Given the description of an element on the screen output the (x, y) to click on. 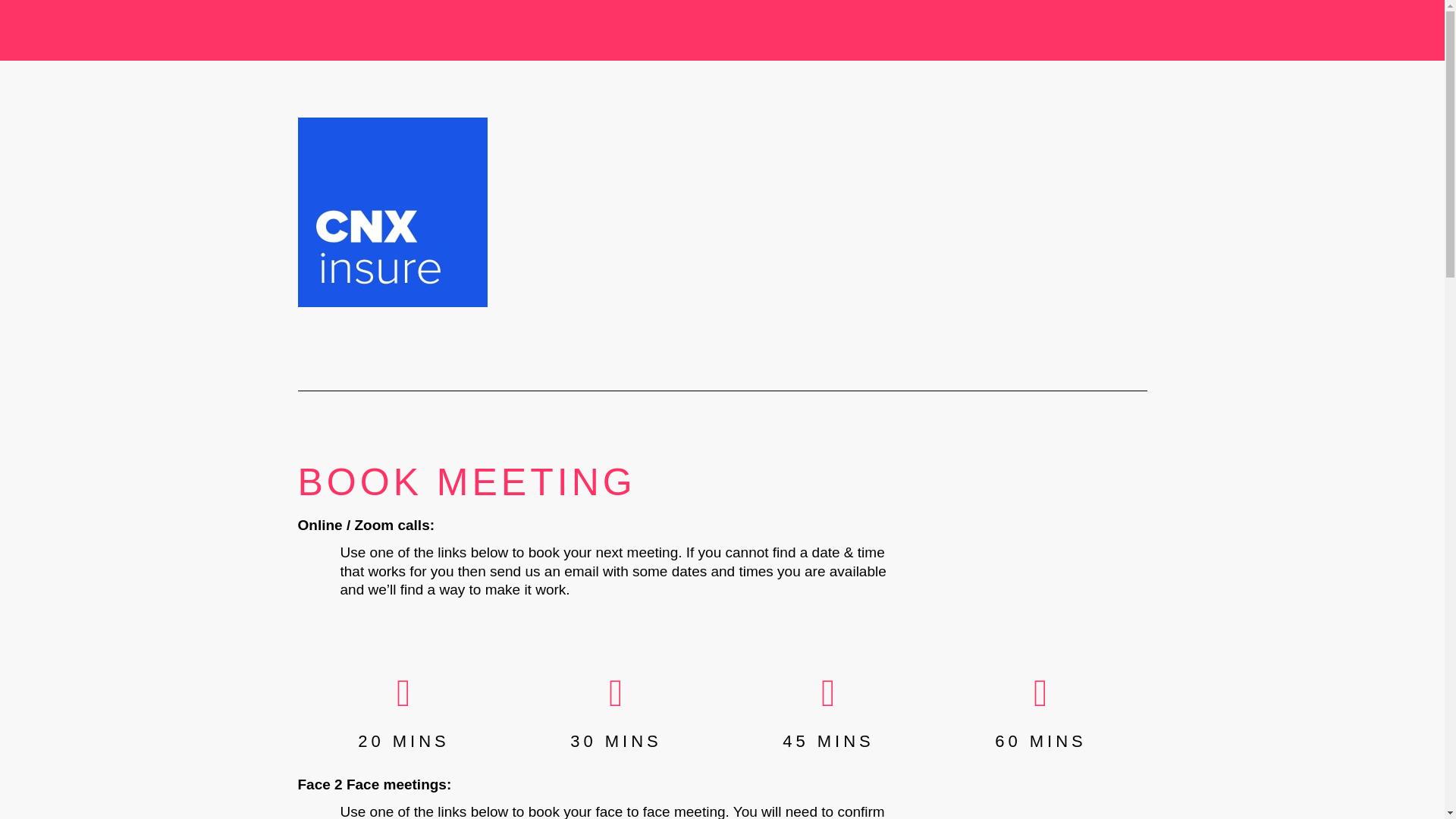
20 MINS (403, 741)
60 MINS (1040, 741)
45 MINS (829, 741)
30 MINS (616, 741)
